Given the description of an element on the screen output the (x, y) to click on. 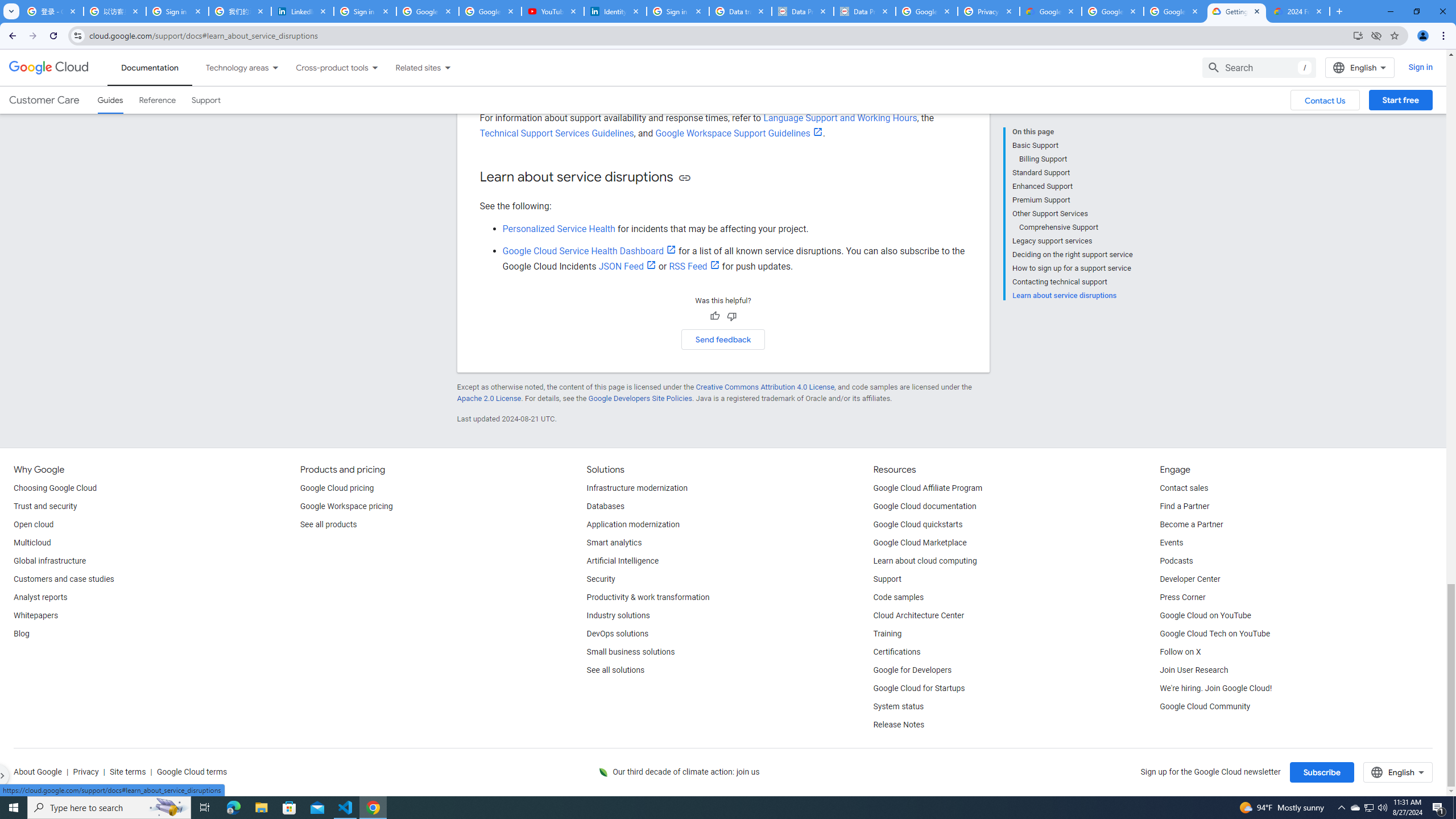
Google Cloud Affiliate Program (927, 488)
Events (1170, 542)
Sign in - Google Accounts (365, 11)
Deciding on the right support service (1071, 254)
Developer Center (1189, 579)
Google Cloud documentation (924, 506)
Billing Support (1075, 159)
Productivity & work transformation (648, 597)
Copy link to this section: Contacting technical support (669, 43)
Our third decade of climate action: join us (686, 772)
Legacy support services (1071, 241)
Choosing Google Cloud (55, 488)
See all solutions (615, 670)
